Given the description of an element on the screen output the (x, y) to click on. 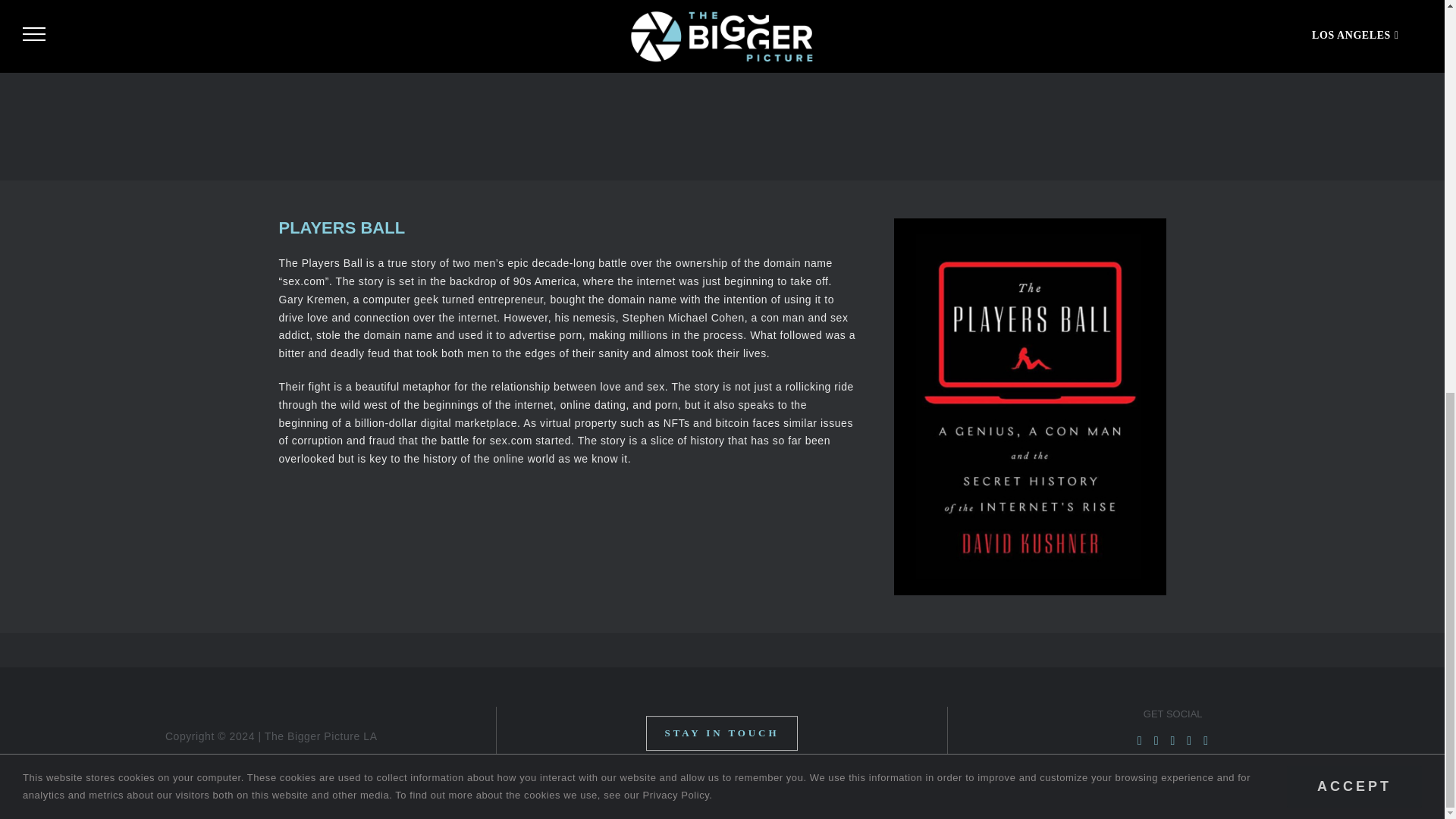
STAY IN TOUCH (721, 732)
